Given the description of an element on the screen output the (x, y) to click on. 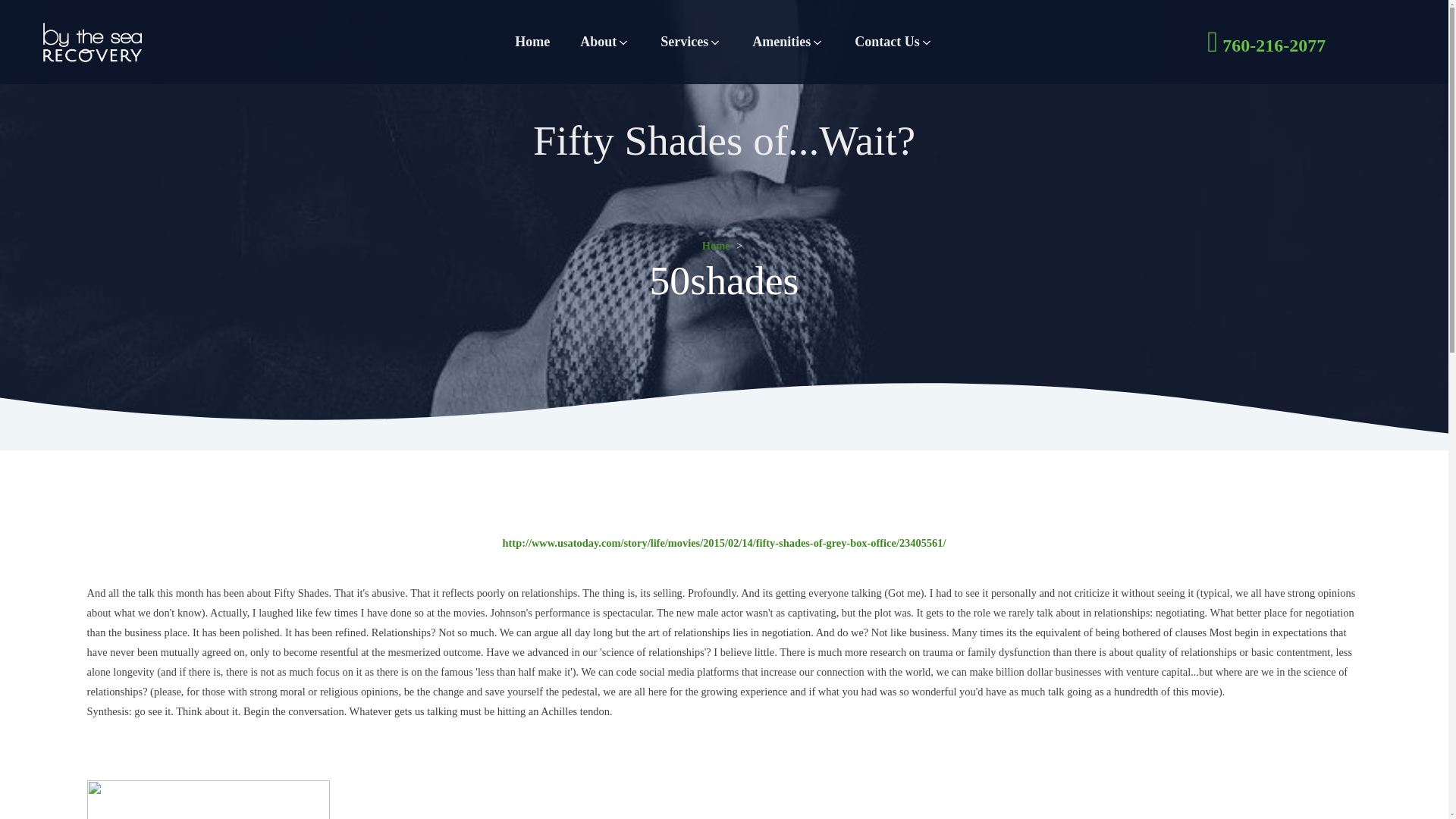
Contact Us (894, 41)
760-216-2077 (1268, 41)
Home (531, 41)
Home (715, 245)
Amenities (788, 41)
About (604, 41)
Services (690, 41)
